Given the description of an element on the screen output the (x, y) to click on. 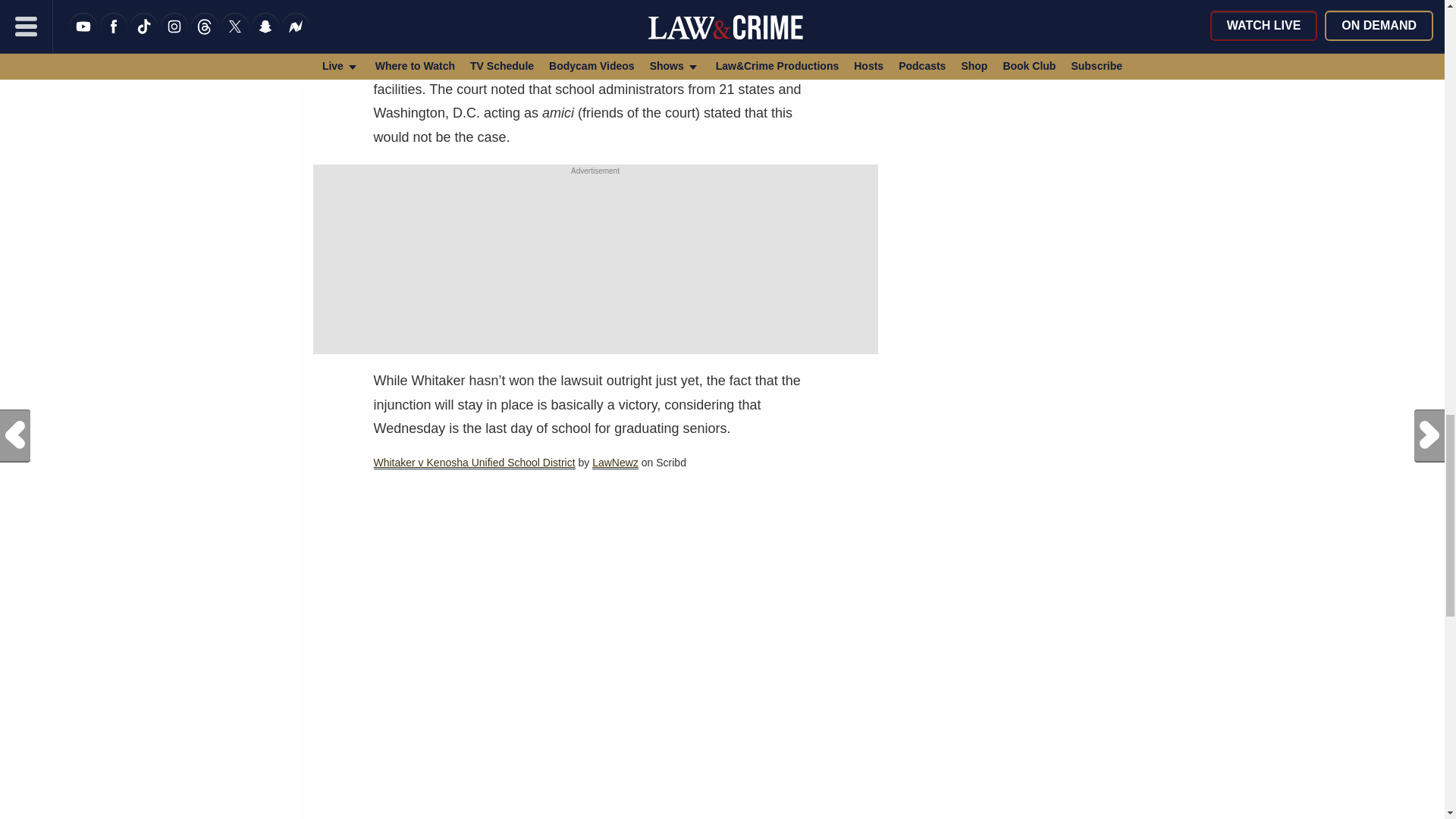
View Whitaker v Kenosha Unified School District on Scribd (473, 462)
